Given the description of an element on the screen output the (x, y) to click on. 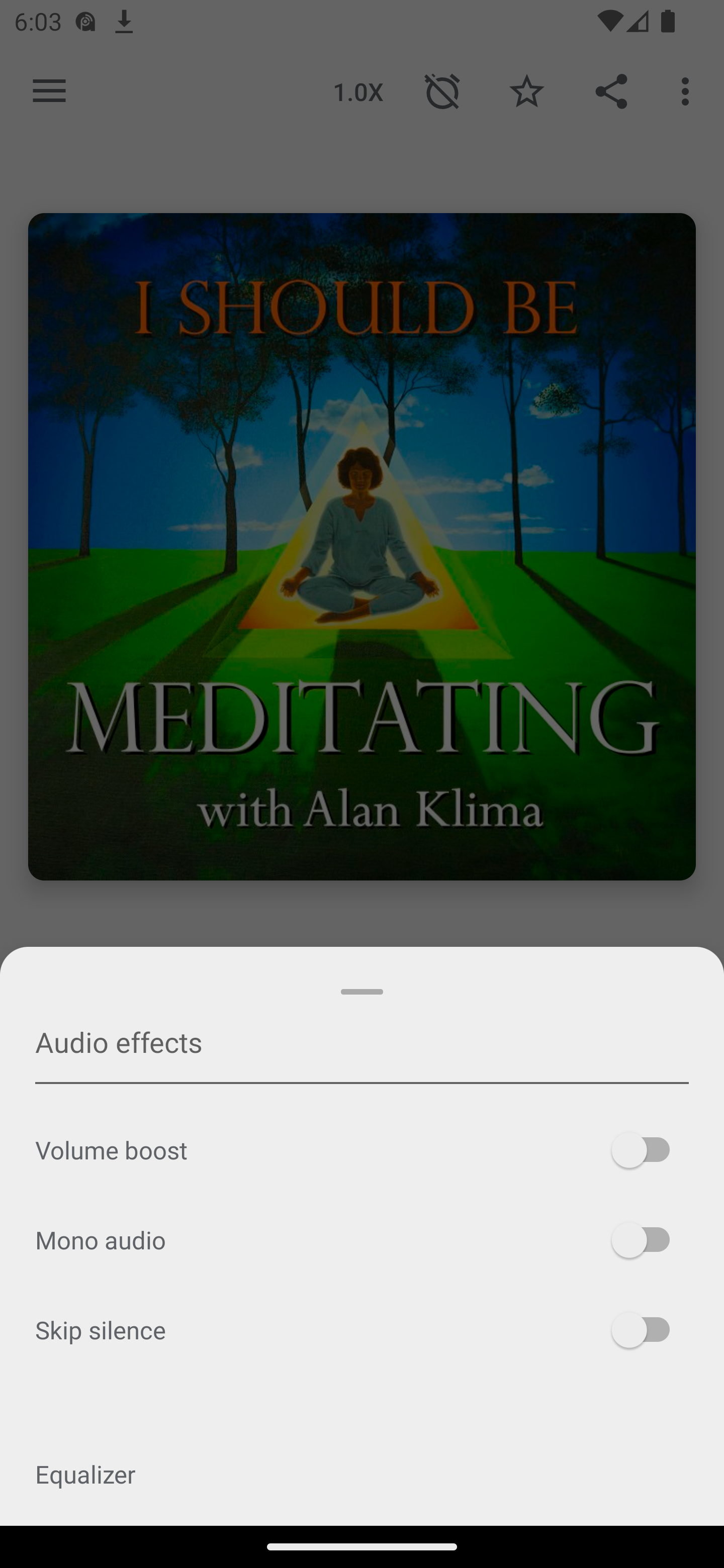
Volume boost (361, 1149)
Mono audio (361, 1239)
Skip silence (361, 1329)
Equalizer (361, 1473)
